Given the description of an element on the screen output the (x, y) to click on. 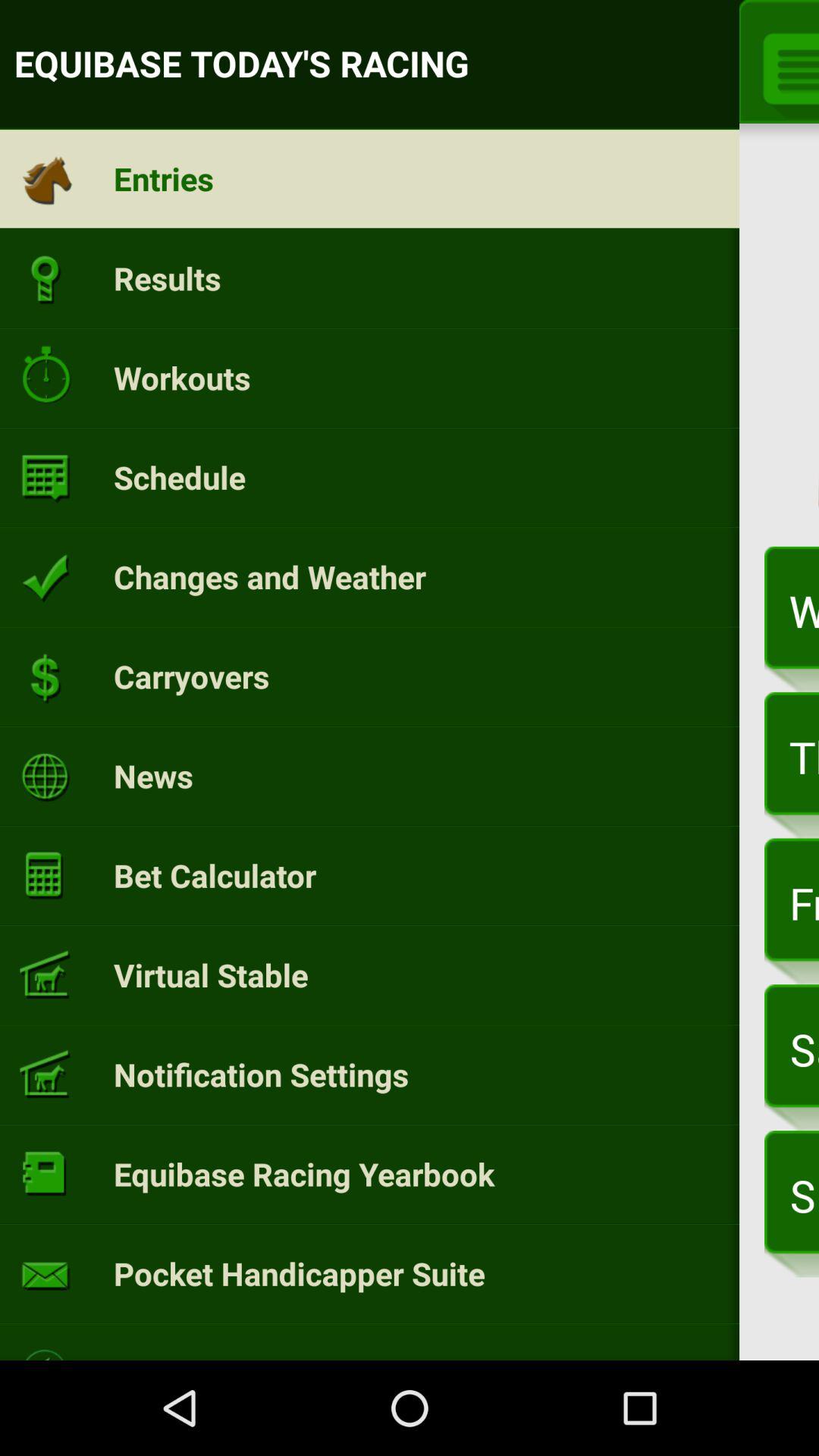
it provides the submenu (785, 66)
